Given the description of an element on the screen output the (x, y) to click on. 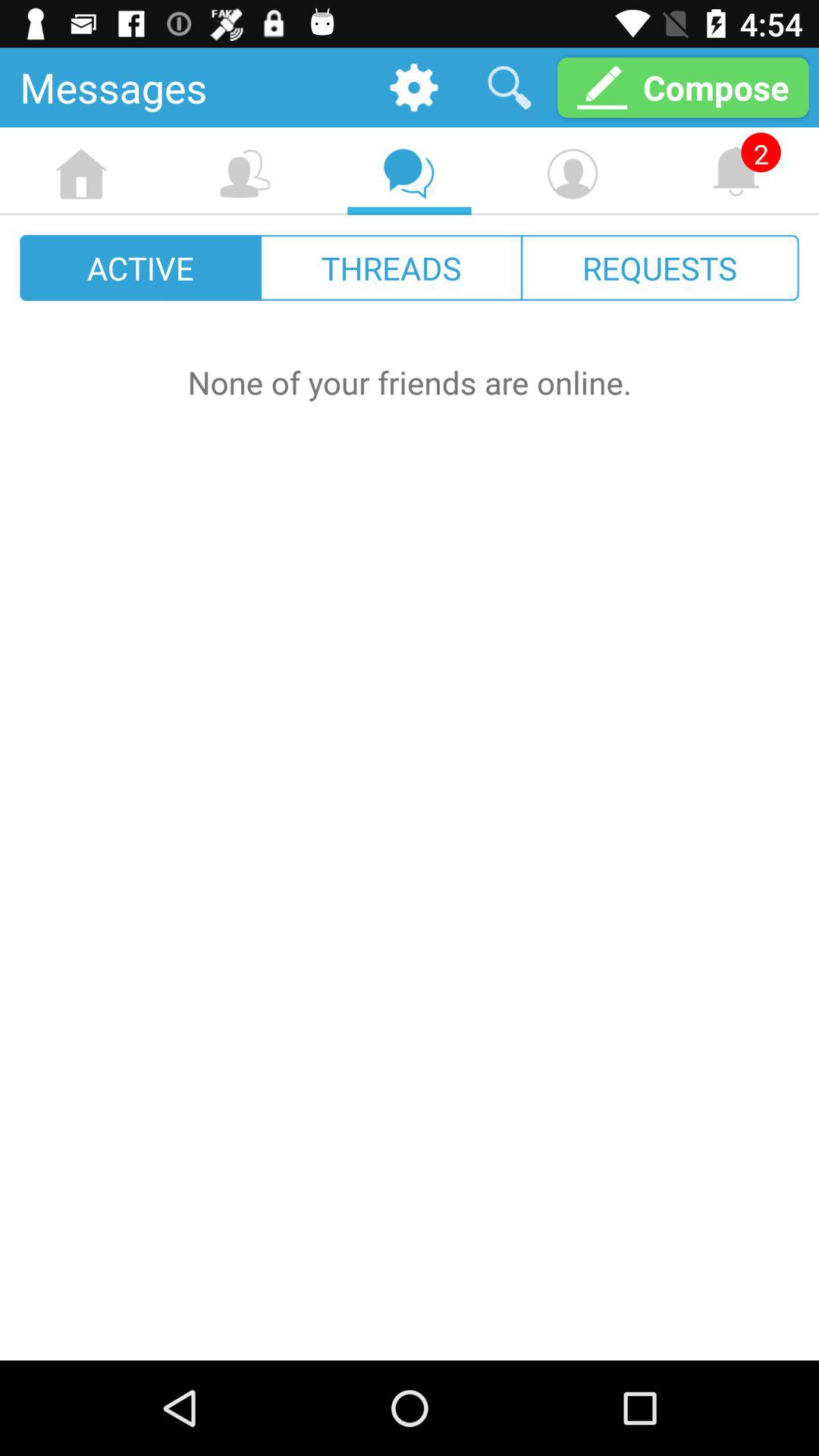
launch item next to the active (390, 267)
